Given the description of an element on the screen output the (x, y) to click on. 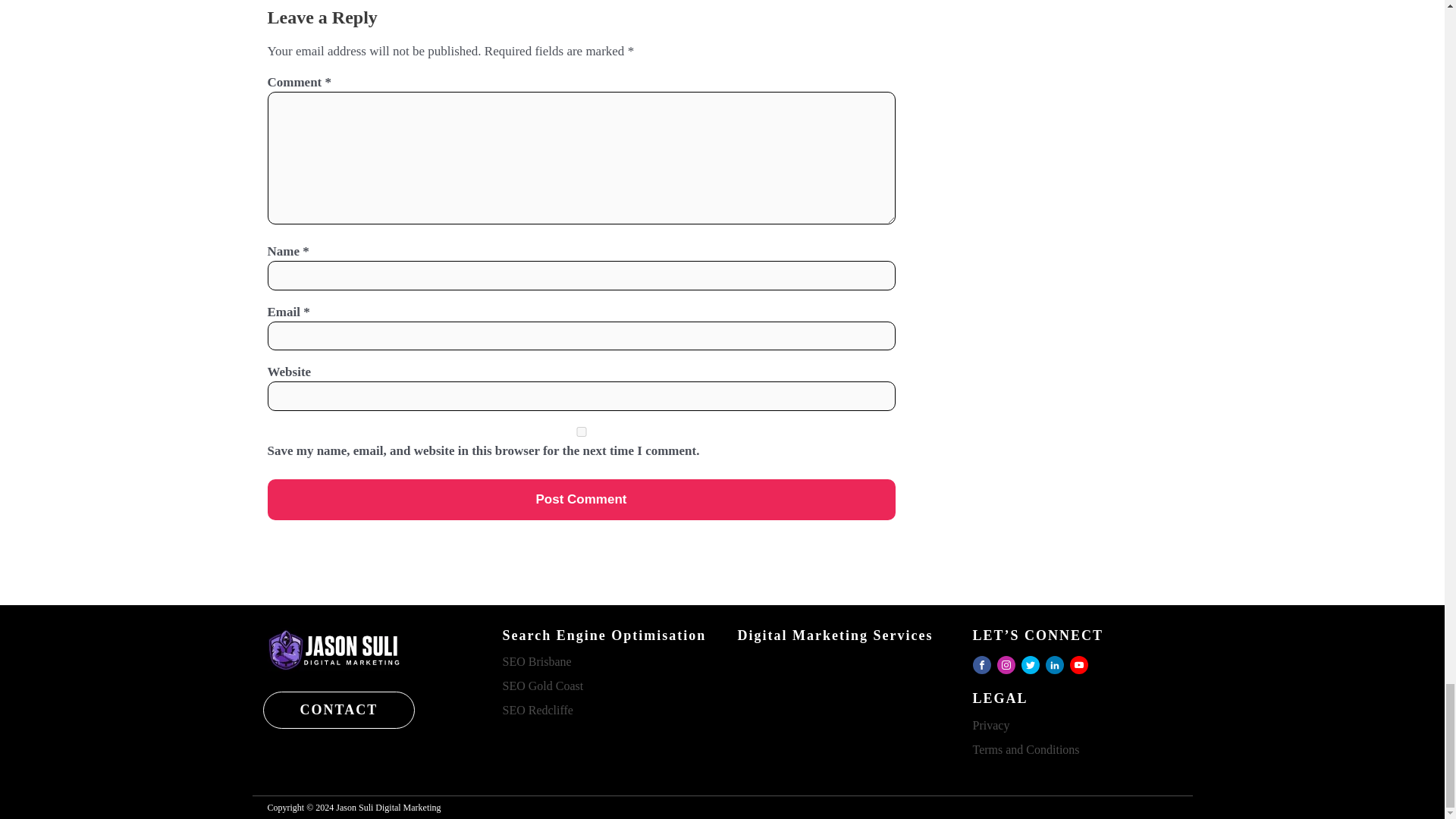
Post Comment (580, 499)
yes (580, 431)
